Given the description of an element on the screen output the (x, y) to click on. 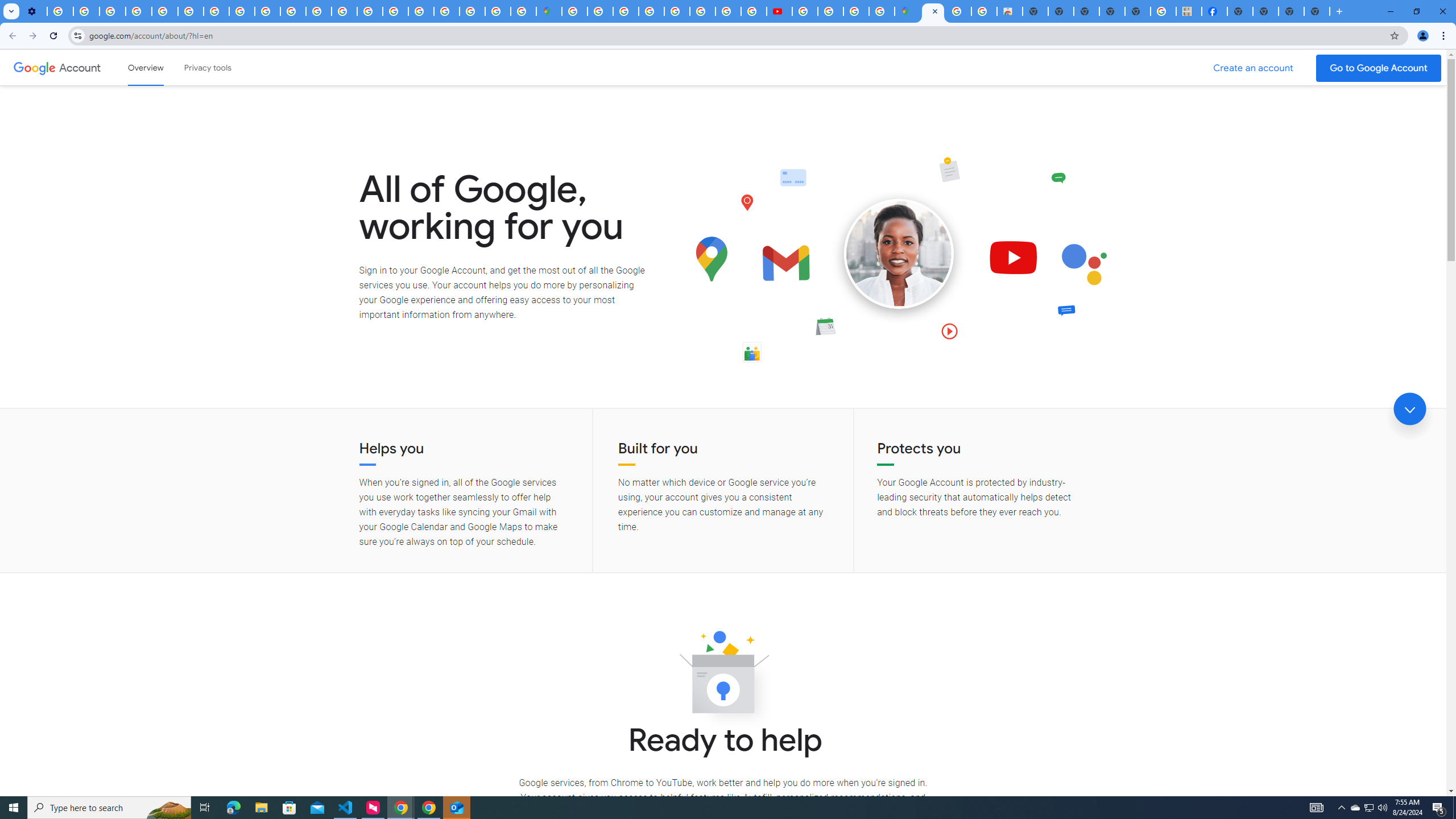
Privacy tools (207, 67)
Google Account Help (138, 11)
Privacy Help Center - Policies Help (702, 11)
Sign in - Google Accounts (600, 11)
YouTube (190, 11)
Chrome Web Store - Shopping (1009, 11)
